Given the description of an element on the screen output the (x, y) to click on. 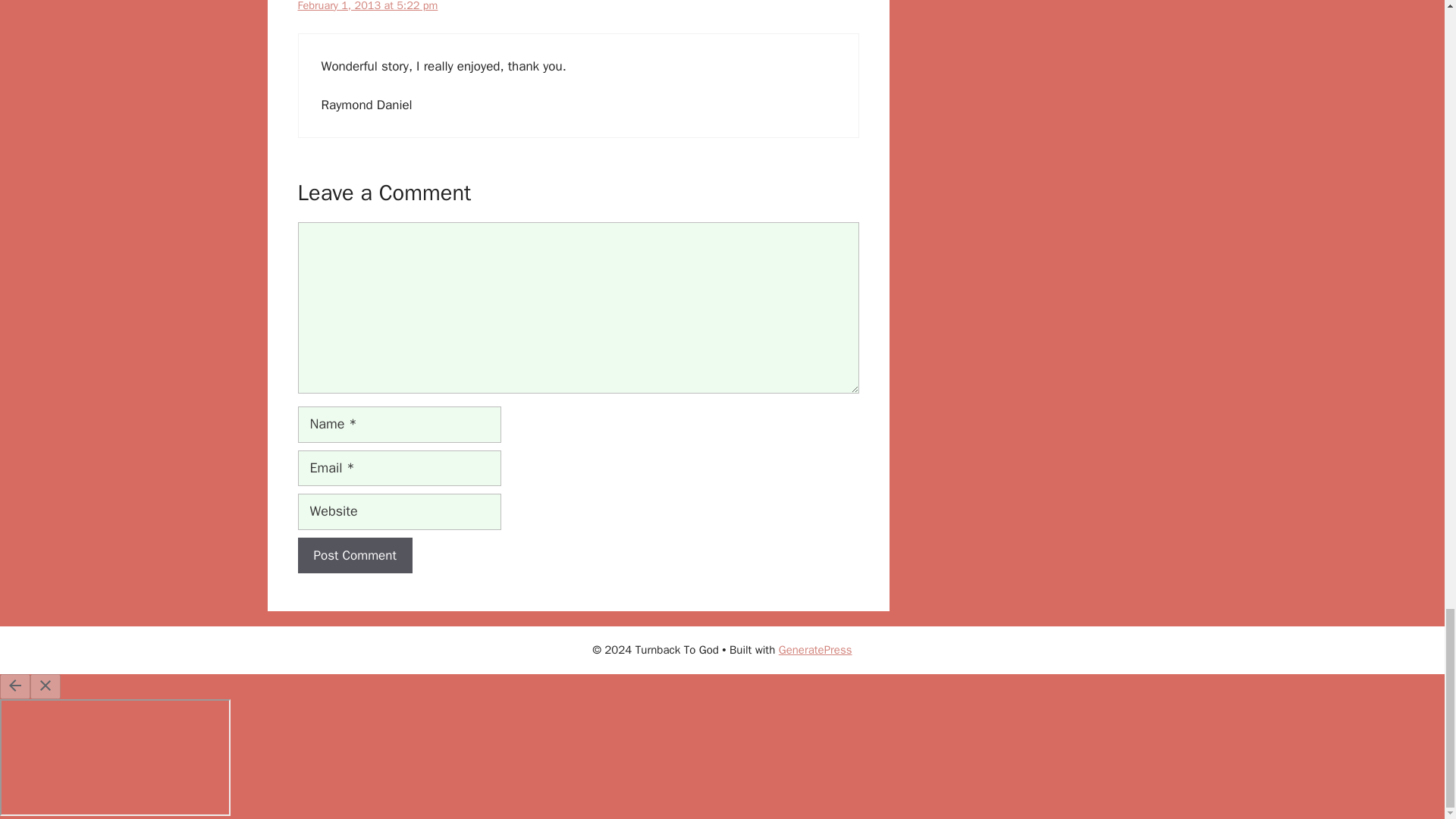
February 1, 2013 at 5:22 pm (367, 6)
Post Comment (354, 555)
Post Comment (354, 555)
